Given the description of an element on the screen output the (x, y) to click on. 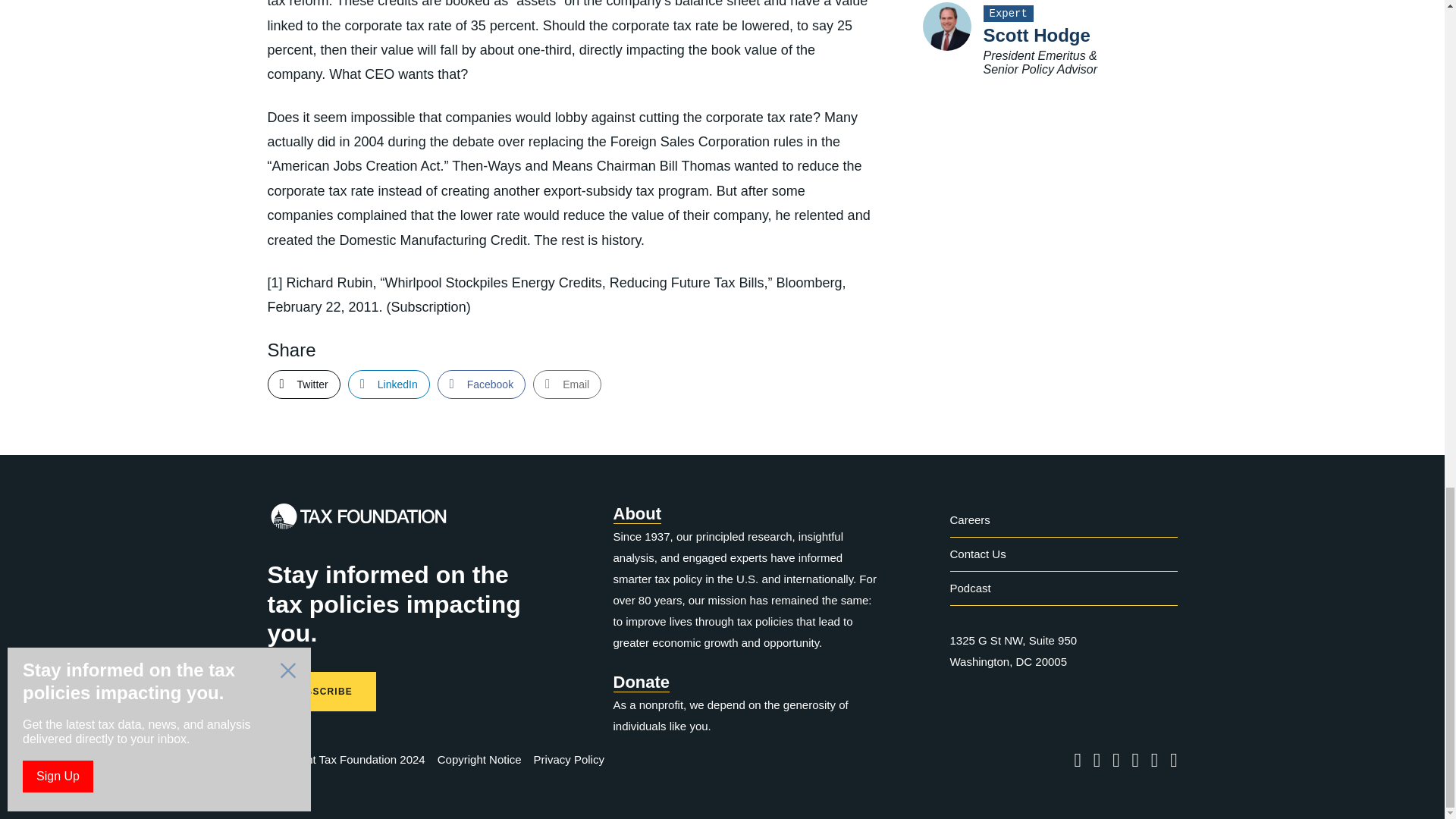
Tax Foundation (357, 519)
